Given the description of an element on the screen output the (x, y) to click on. 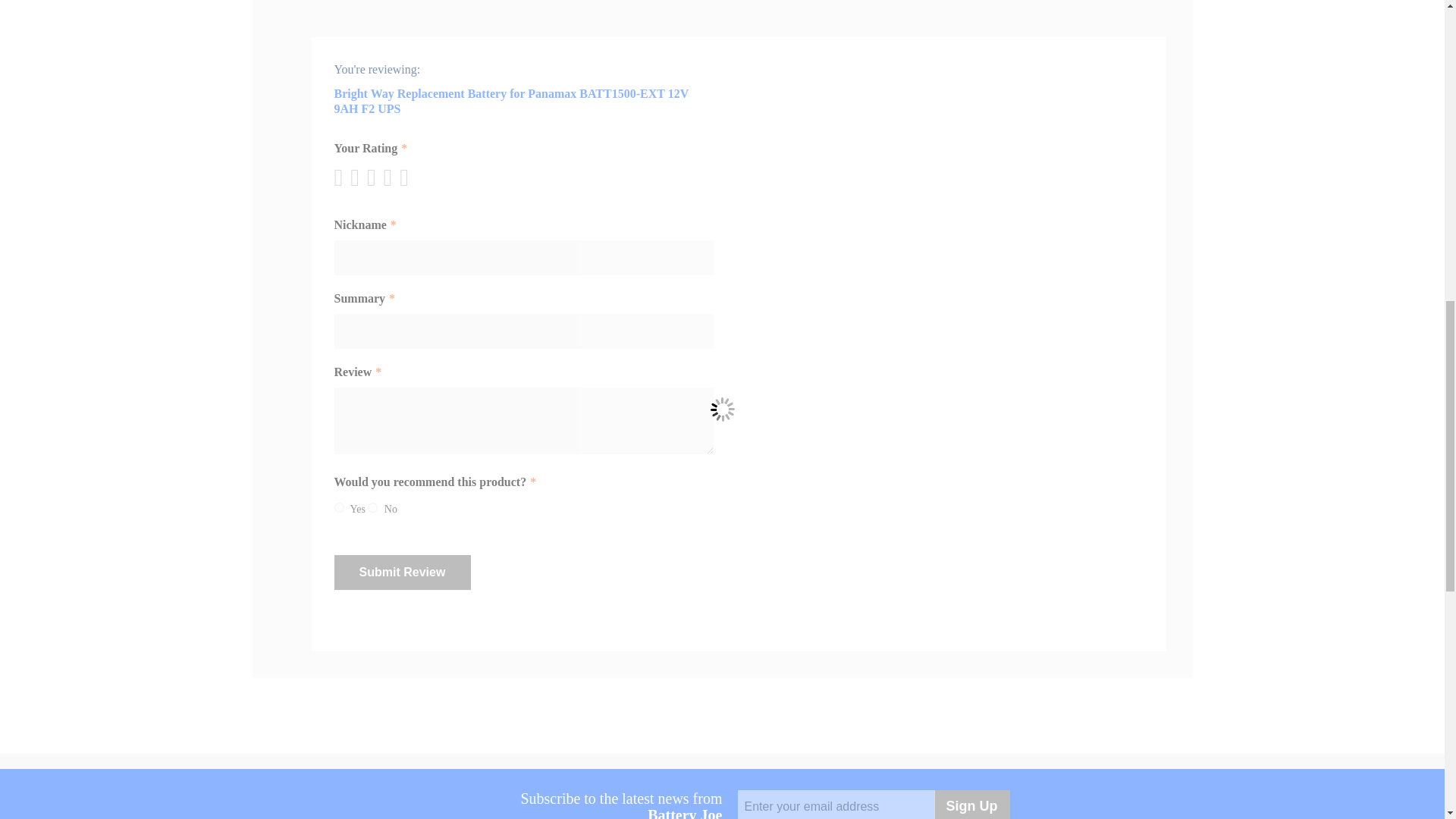
3 stars (357, 177)
Subscribe (972, 804)
0 (372, 507)
1 (338, 507)
2 stars (349, 177)
4 stars (365, 177)
5 stars (373, 177)
